Given the description of an element on the screen output the (x, y) to click on. 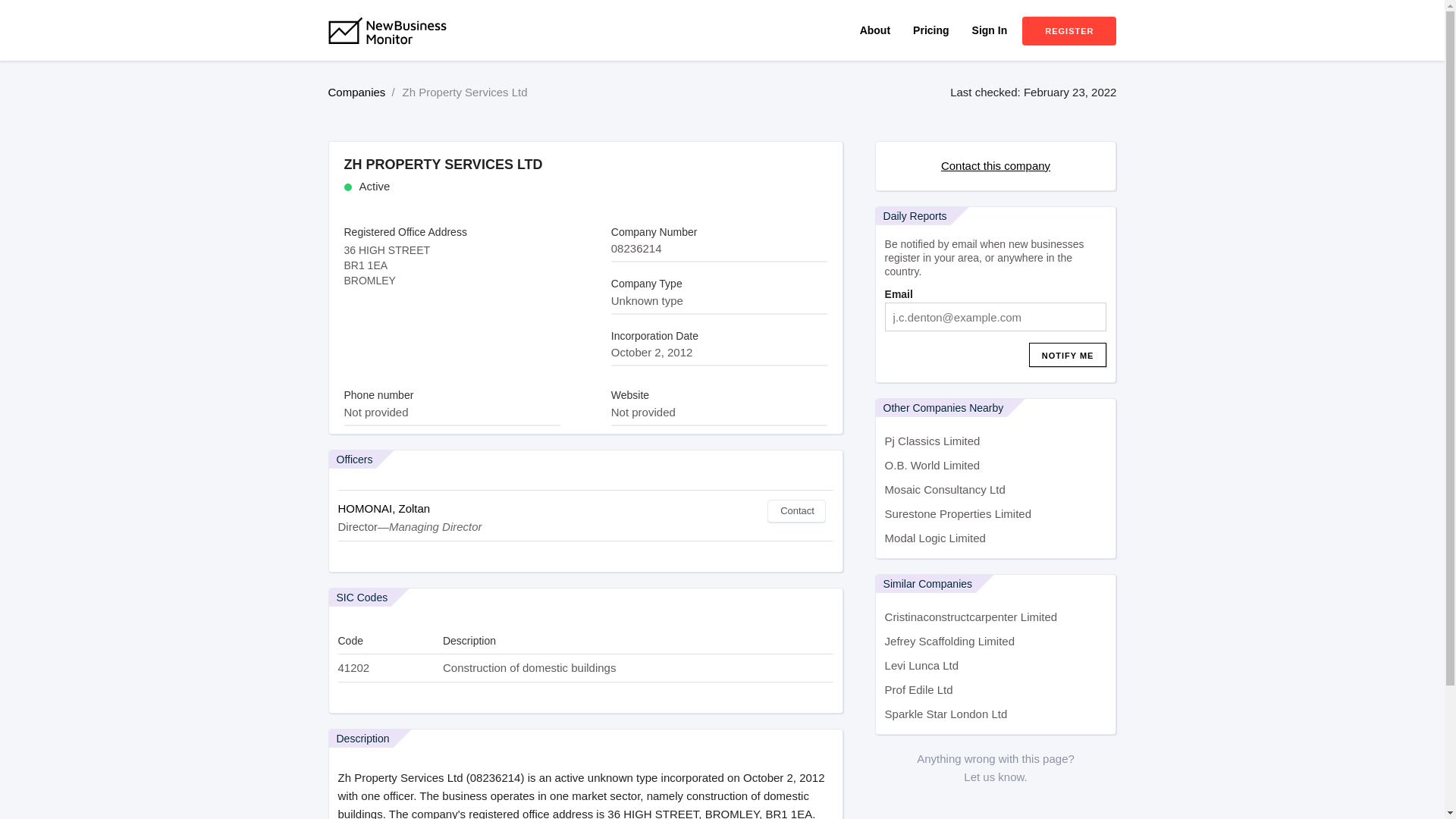
Companies (356, 91)
Surestone Properties Limited (996, 514)
REGISTER (1069, 30)
Let us know. (994, 776)
NewBusinessMonitor (397, 60)
Contact (796, 510)
Mosaic Consultancy Ltd (996, 489)
O.B. World Limited (996, 465)
Sparkle Star London Ltd (996, 713)
Modal Logic Limited (996, 538)
About (874, 30)
Cristinaconstructcarpenter Limited (996, 617)
Pricing (930, 30)
Jefrey Scaffolding Limited (996, 641)
Prof Edile Ltd (996, 689)
